Given the description of an element on the screen output the (x, y) to click on. 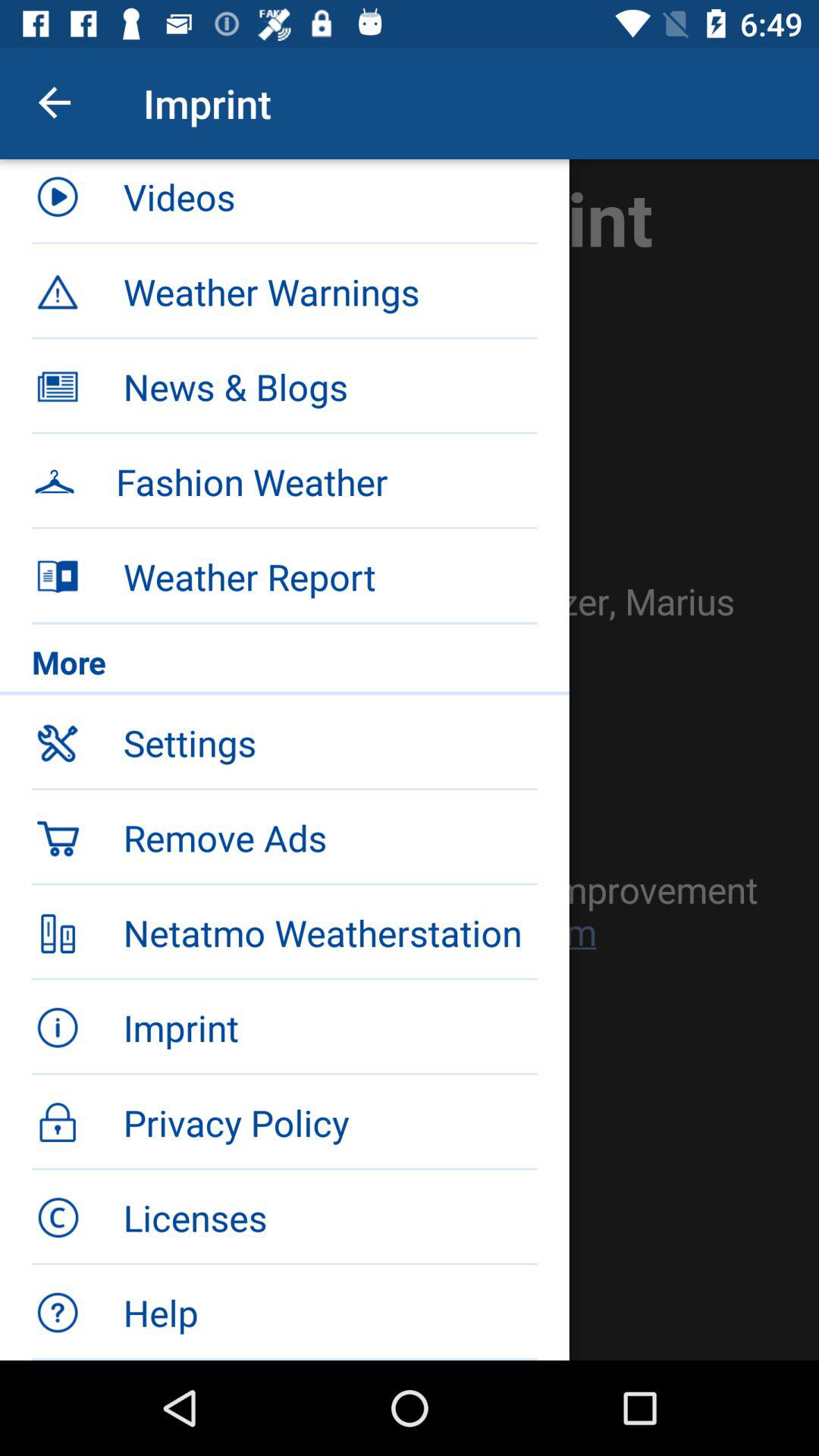
choose icon next to the videos item (55, 103)
